Given the description of an element on the screen output the (x, y) to click on. 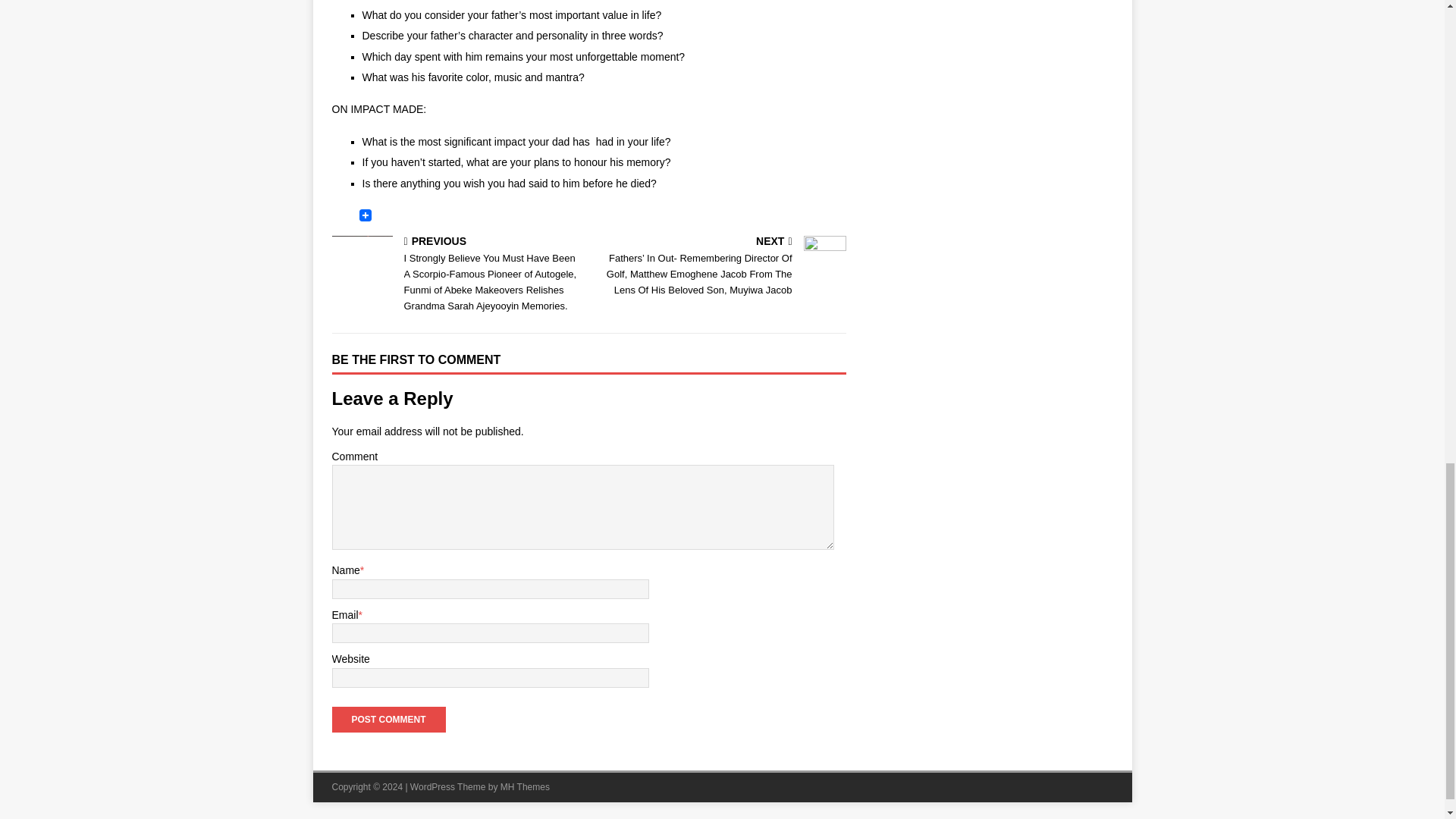
Post Comment (388, 719)
Post Comment (388, 719)
MH Themes (525, 787)
